Given the description of an element on the screen output the (x, y) to click on. 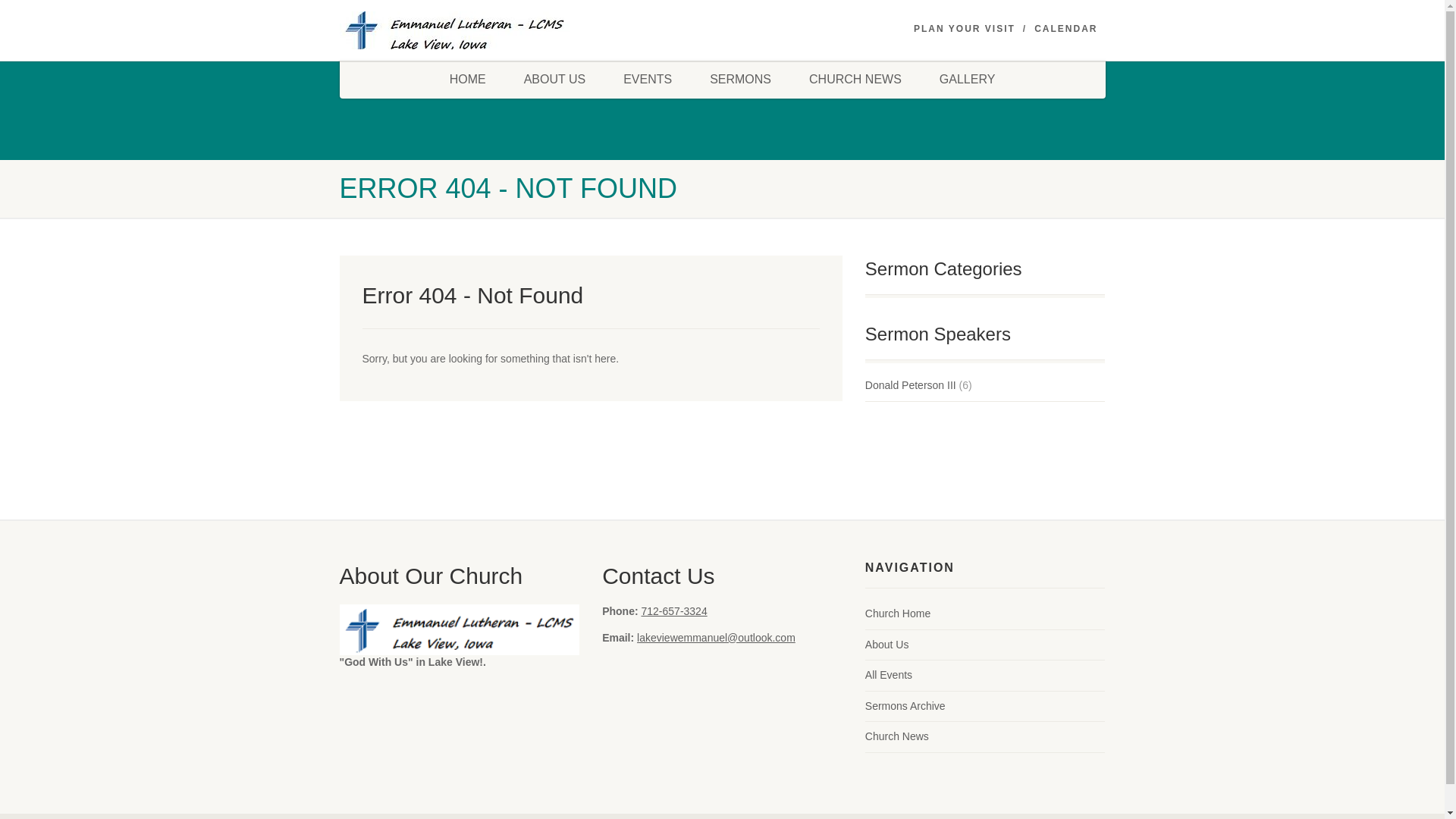
SERMONS (740, 79)
EVENTS (647, 79)
Church News (896, 736)
ABOUT US (555, 79)
Sermons Archive (904, 706)
712-657-3324 (674, 611)
All Events (888, 675)
GALLERY (967, 79)
Logo (459, 33)
Donald Peterson III (910, 385)
